Given the description of an element on the screen output the (x, y) to click on. 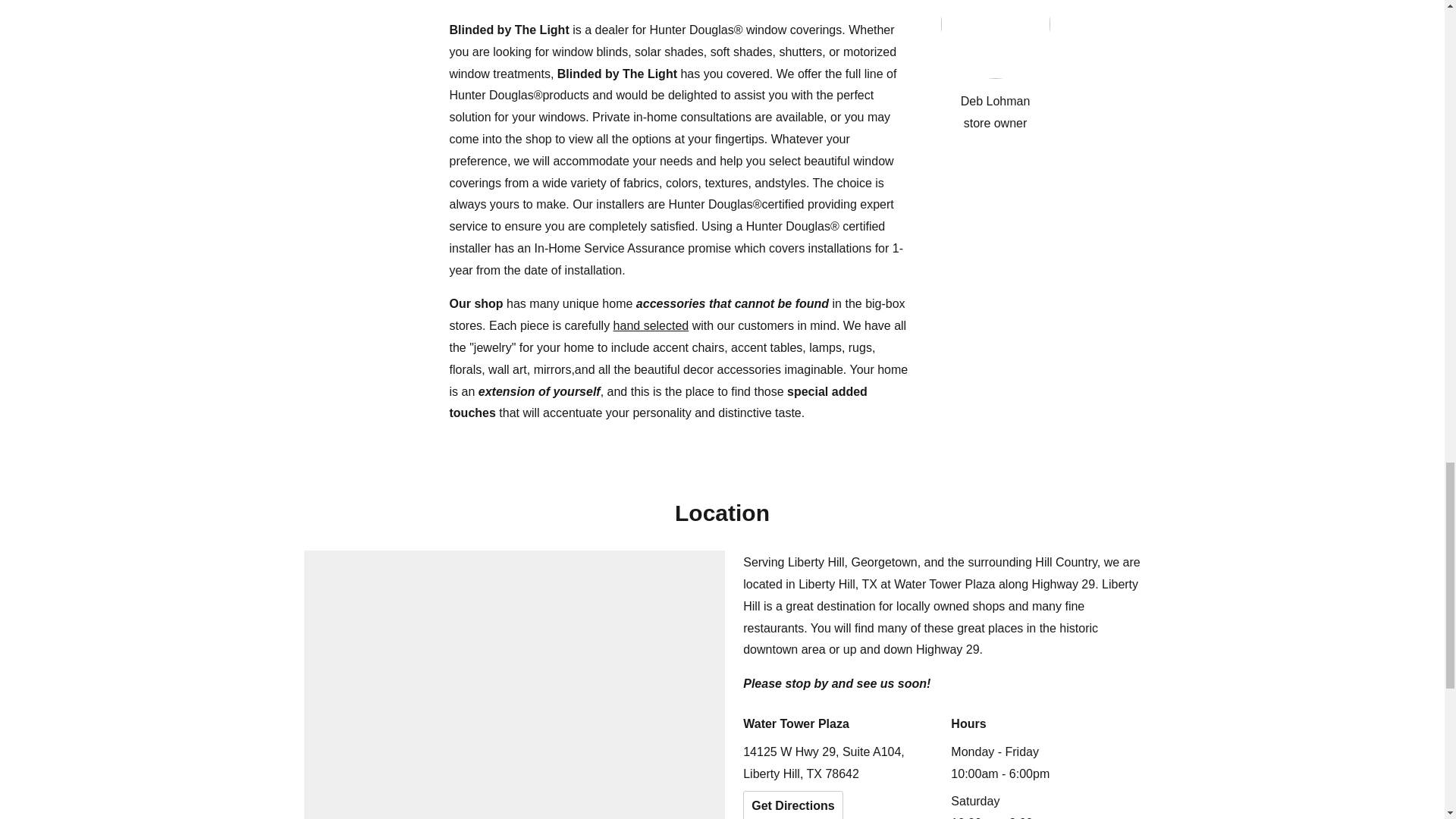
Get Directions (792, 805)
Location on map (513, 684)
